Given the description of an element on the screen output the (x, y) to click on. 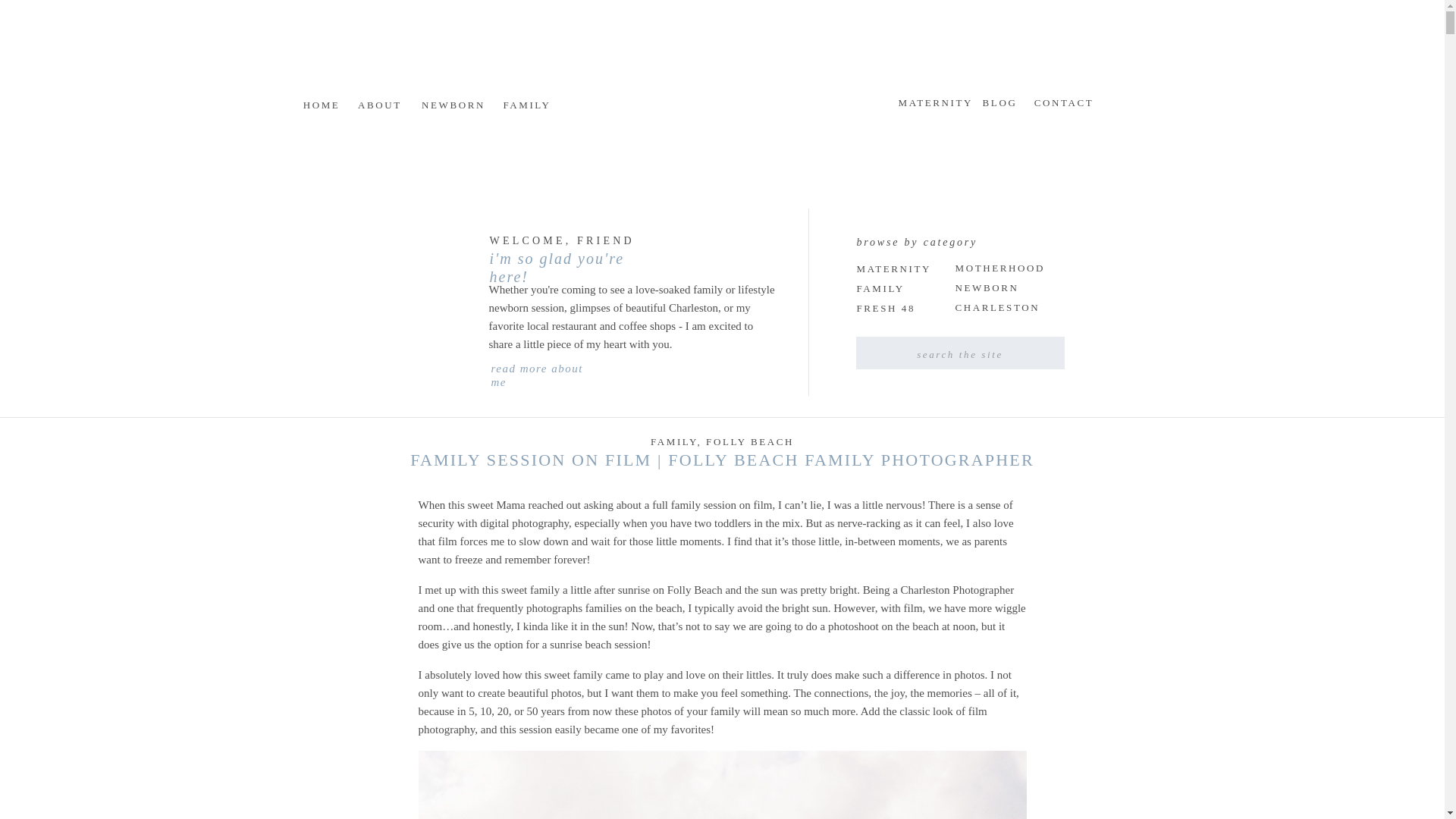
FRESH 48 (890, 309)
FAMILY (879, 290)
MATERNITY (934, 99)
FAMILY (673, 441)
FAMILY (526, 101)
ABOUT (379, 101)
NEWBORN (453, 101)
CHARLESTON (998, 309)
read more about me  (548, 369)
MOTHERHOOD (999, 269)
CONTACT (1063, 99)
BLOG (999, 99)
HOME (321, 101)
NEWBORN (988, 289)
MATERNITY (895, 270)
